Given the description of an element on the screen output the (x, y) to click on. 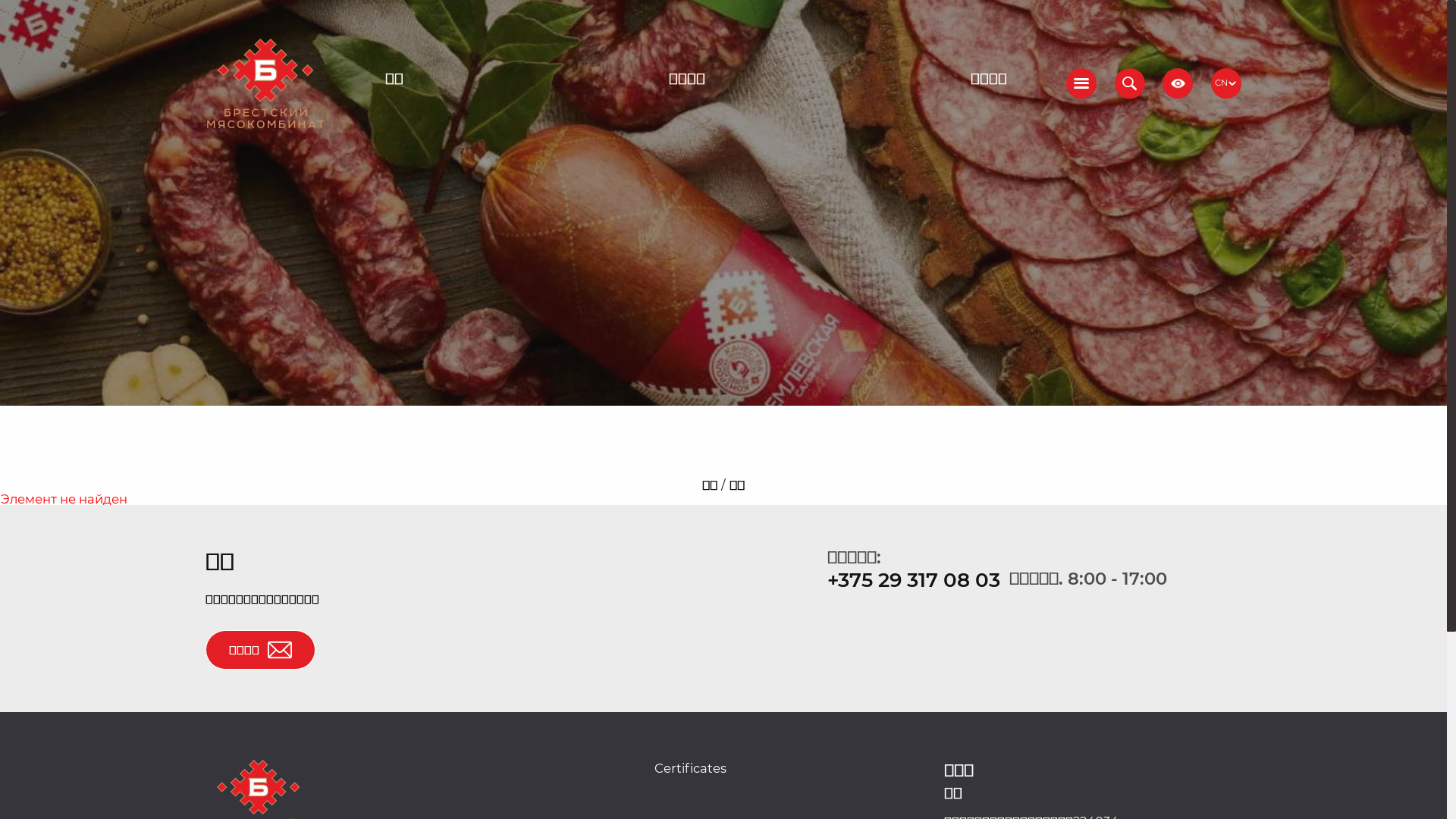
+375 29 317 08 03 Element type: text (913, 579)
Certificates Element type: text (690, 767)
